Given the description of an element on the screen output the (x, y) to click on. 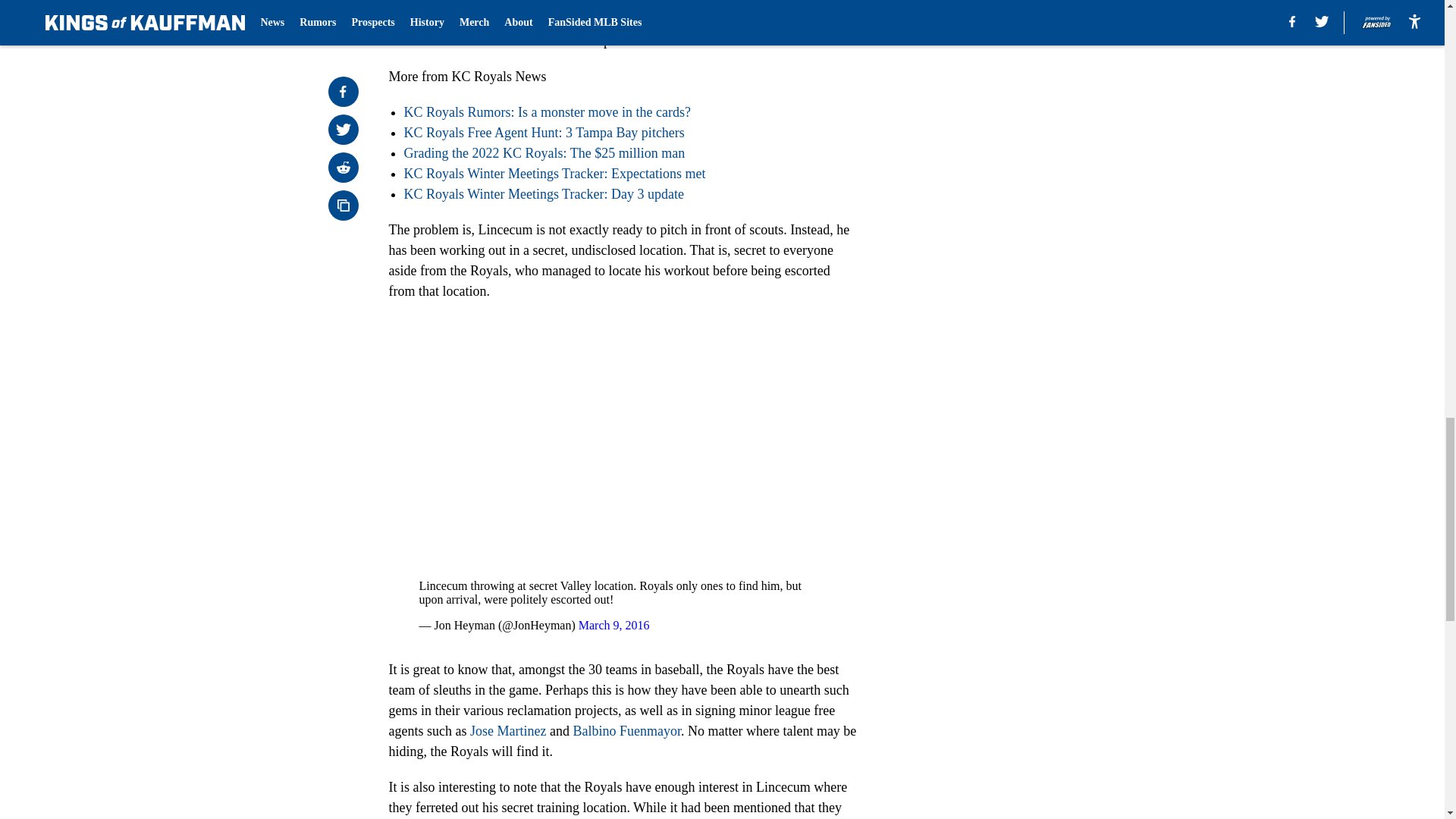
Ryan Madson (449, 20)
KC Royals Rumors: Is a monster move in the cards? (546, 111)
Balbino Fuenmayor (626, 730)
Kris Medlen (529, 20)
Joe Blanton (622, 20)
KC Royals Winter Meetings Tracker: Expectations met (553, 173)
KC Royals Winter Meetings Tracker: Day 3 update (542, 193)
Jose Martinez (508, 730)
March 9, 2016 (613, 625)
KC Royals Free Agent Hunt: 3 Tampa Bay pitchers (543, 132)
